Given the description of an element on the screen output the (x, y) to click on. 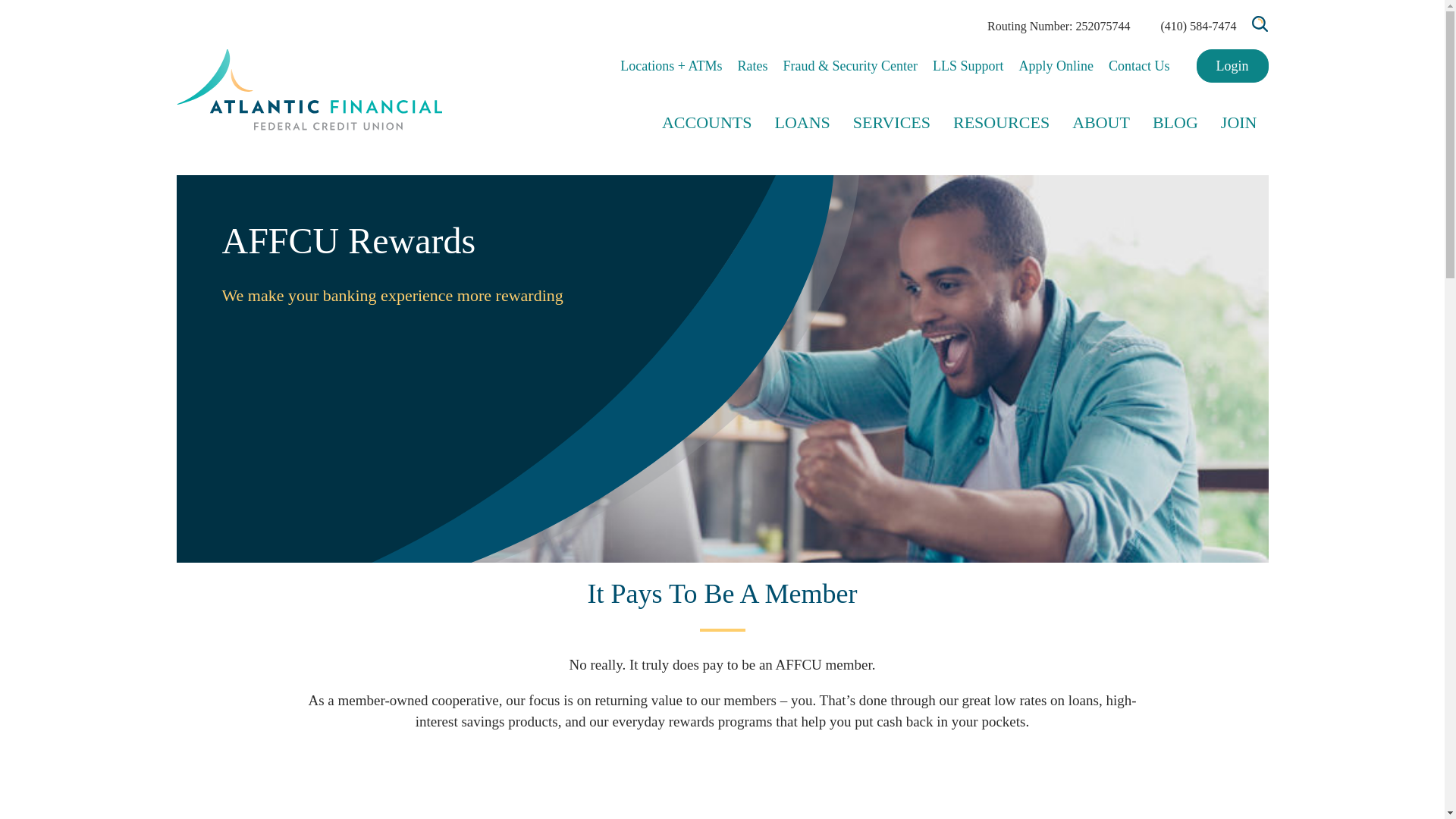
LOANS (801, 144)
Open An Account (927, 186)
ACCOUNTS (706, 144)
SAVINGS ACCOUNTS (679, 189)
Contact Us (1138, 65)
Apply Online (1056, 65)
Manage My Account (934, 186)
MOTORCYCLE LOANS (759, 189)
Request A Debit Card (936, 186)
Rates (753, 65)
Routing Number (924, 186)
CERTIFICATES AND IRAS (692, 189)
Login (1232, 65)
Reorder Checks (921, 186)
VISA CREDIT CARD (675, 189)
